Given the description of an element on the screen output the (x, y) to click on. 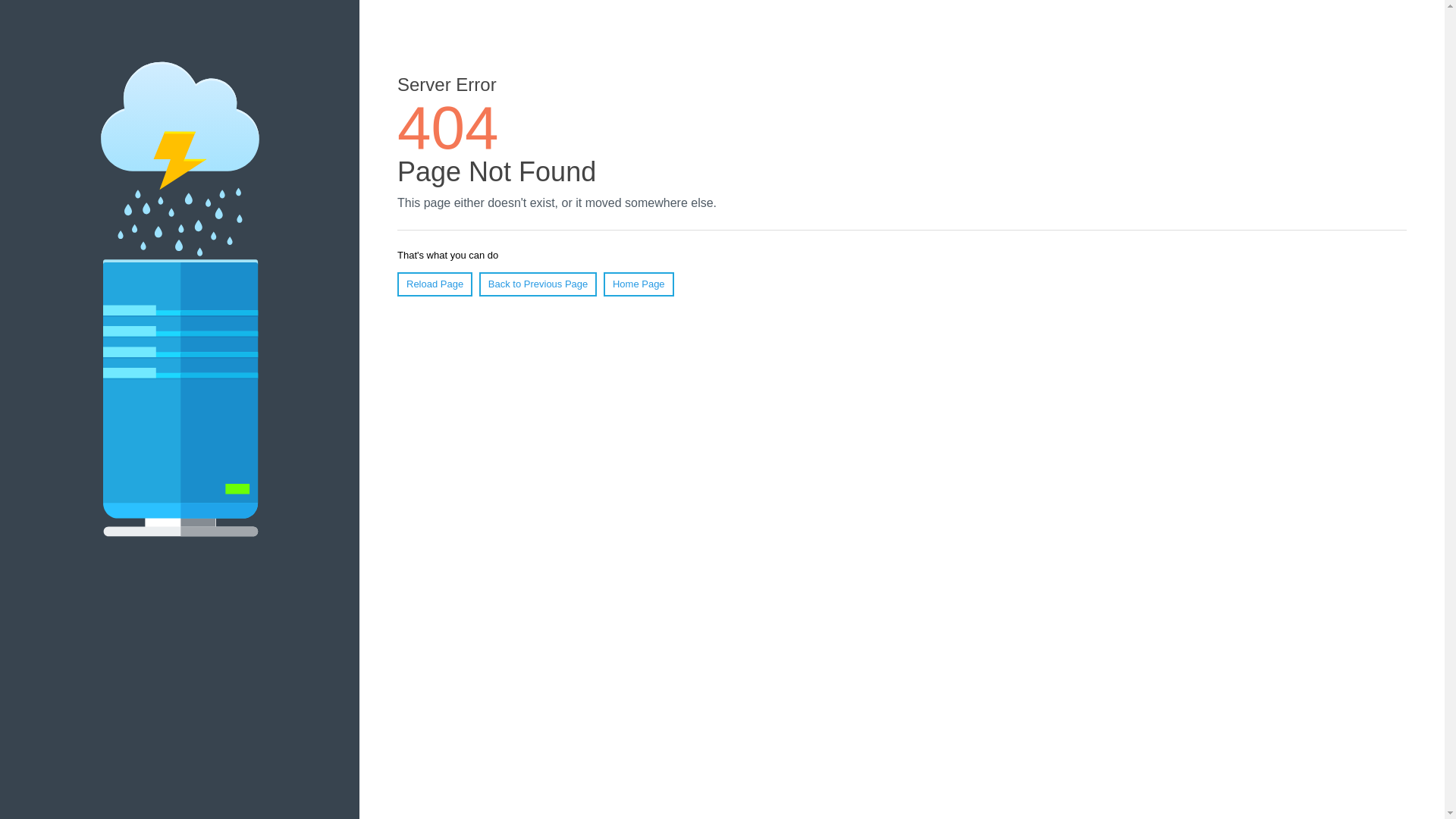
Home Page Element type: text (638, 284)
Back to Previous Page Element type: text (538, 284)
Reload Page Element type: text (434, 284)
